Given the description of an element on the screen output the (x, y) to click on. 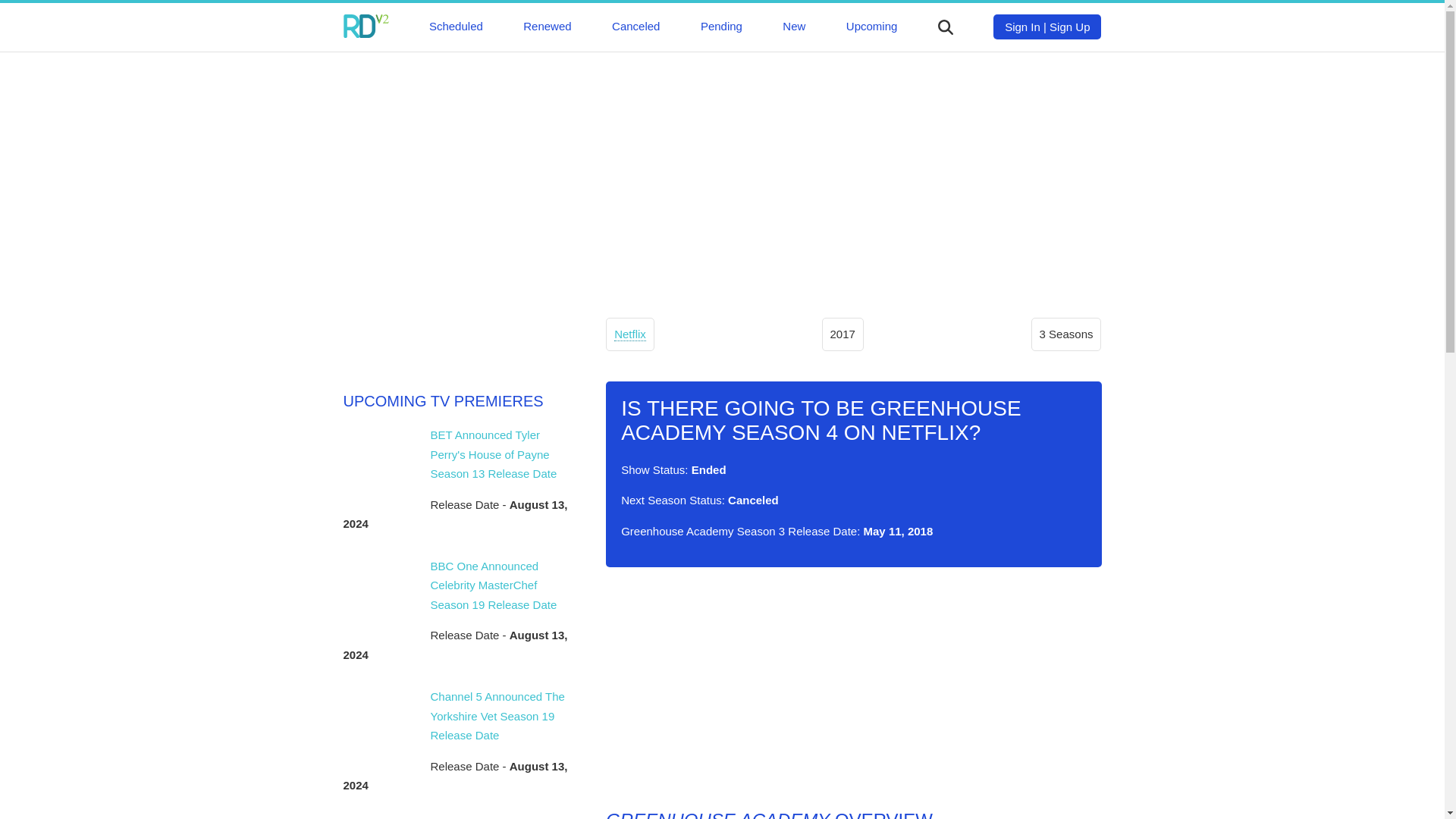
Advertisement (852, 688)
Upcoming (871, 25)
Sign In (1022, 26)
New (794, 25)
Canceled (635, 25)
Scheduled (456, 25)
Netflix (630, 334)
Sign Up (1069, 26)
Pending (721, 25)
